Given the description of an element on the screen output the (x, y) to click on. 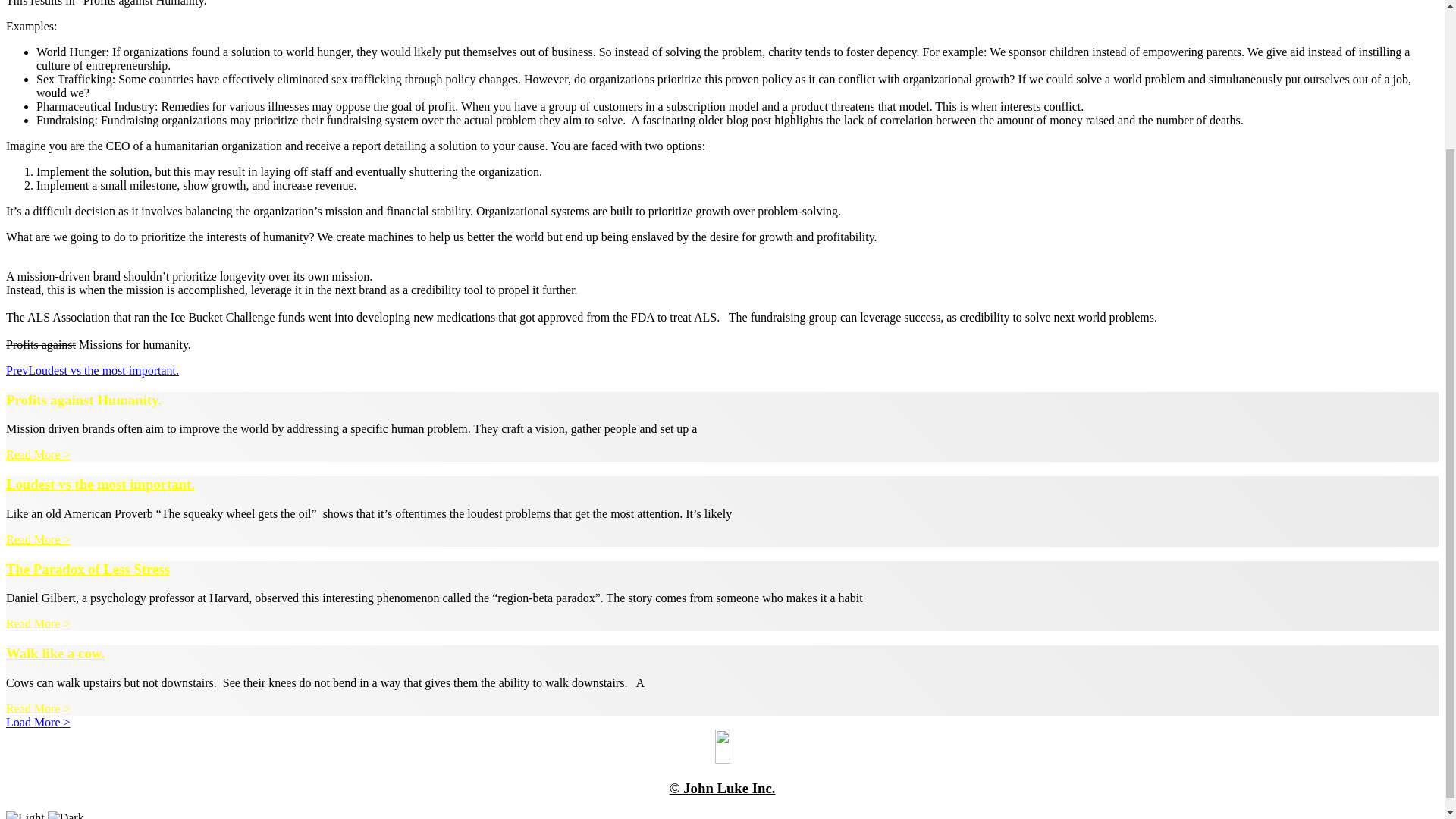
Profits against Humanity. (83, 399)
PrevLoudest vs the most important. (92, 369)
Walk like a cow. (54, 652)
The Paradox of Less Stress (87, 569)
Loudest vs the most important. (100, 483)
